Given the description of an element on the screen output the (x, y) to click on. 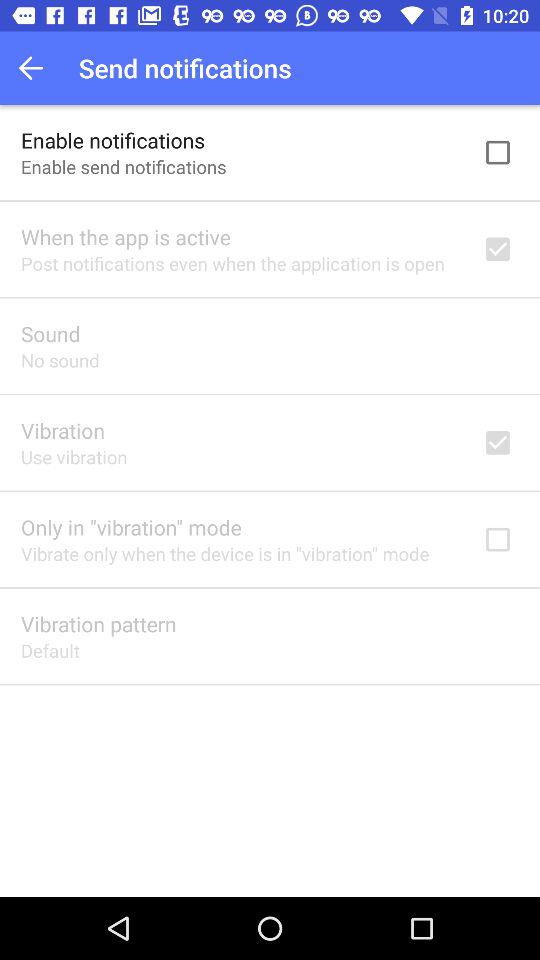
open the no sound (60, 360)
